Given the description of an element on the screen output the (x, y) to click on. 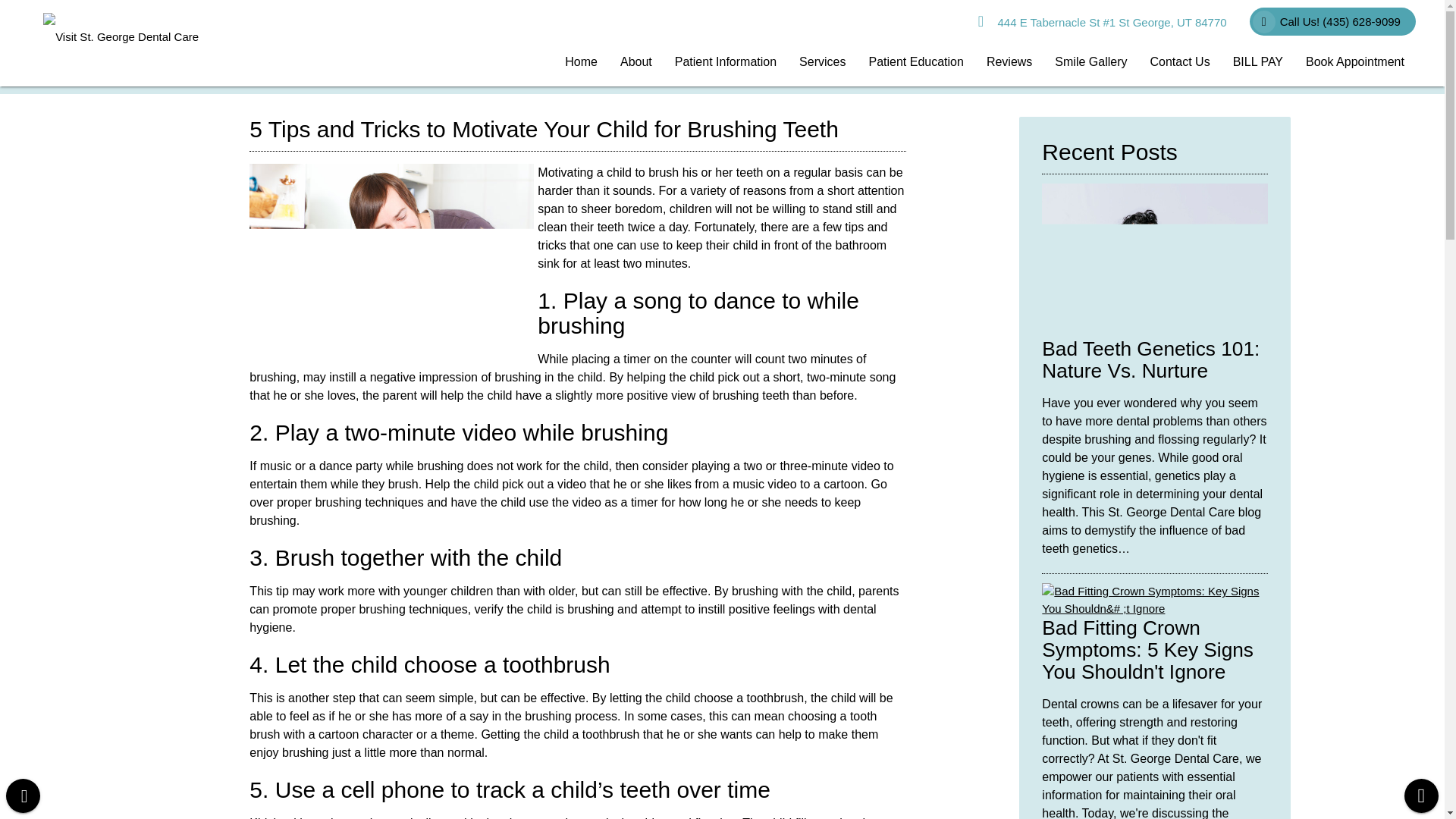
Visit our Patient Information page (725, 61)
Home (580, 61)
About (635, 61)
Services (822, 61)
Patient Education (915, 61)
Visit our Home page (580, 61)
Directions to St. George Dental Care (1101, 22)
Patient Information (725, 61)
Services Navigation (822, 61)
